Given the description of an element on the screen output the (x, y) to click on. 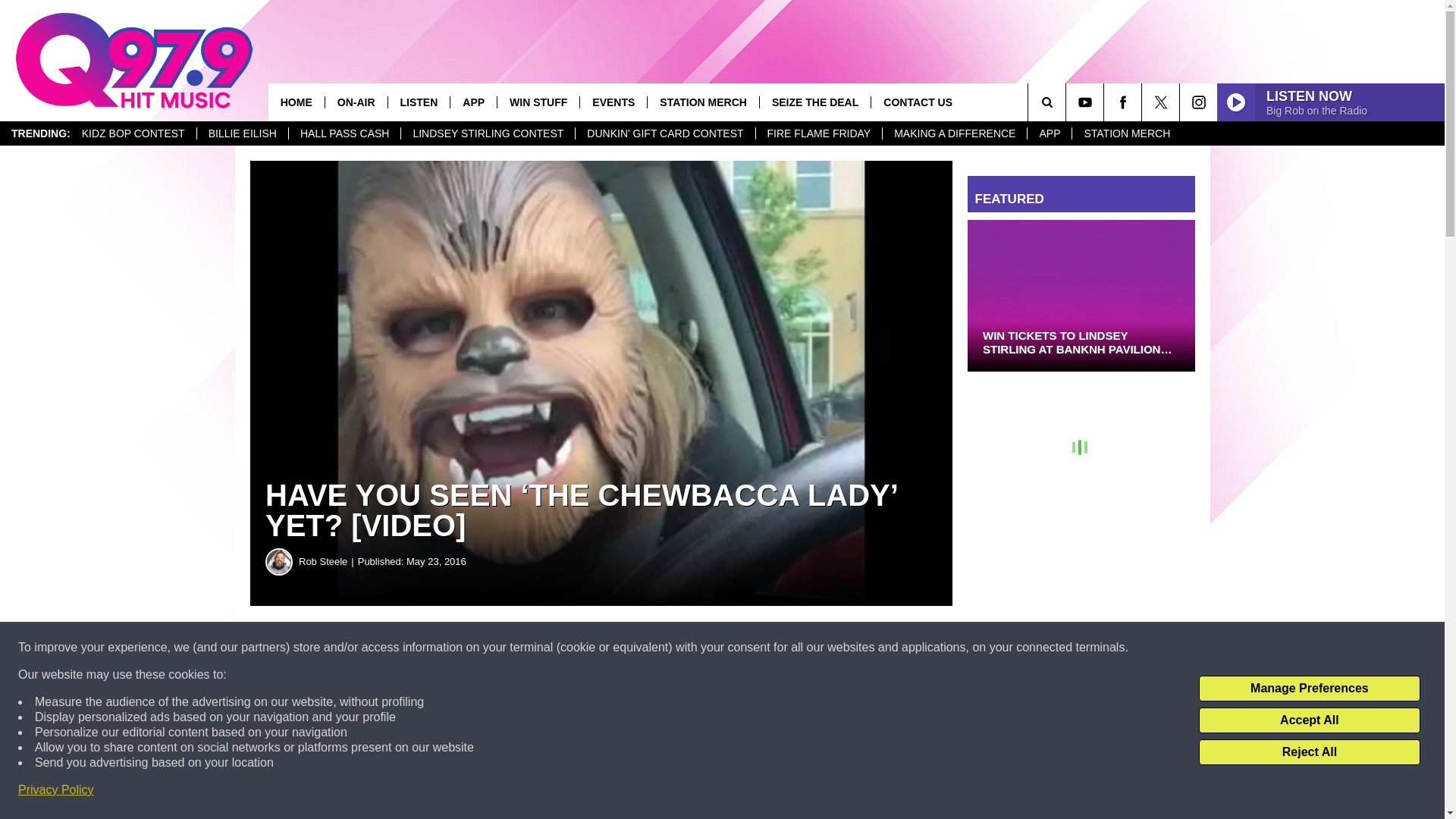
MAKING A DIFFERENCE (954, 133)
STATION MERCH (1125, 133)
APP (472, 102)
KIDZ BOP CONTEST (132, 133)
Share on Facebook (460, 647)
Manage Preferences (1309, 688)
Reject All (1309, 751)
BILLIE EILISH (242, 133)
ON-AIR (355, 102)
LISTEN (418, 102)
